Given the description of an element on the screen output the (x, y) to click on. 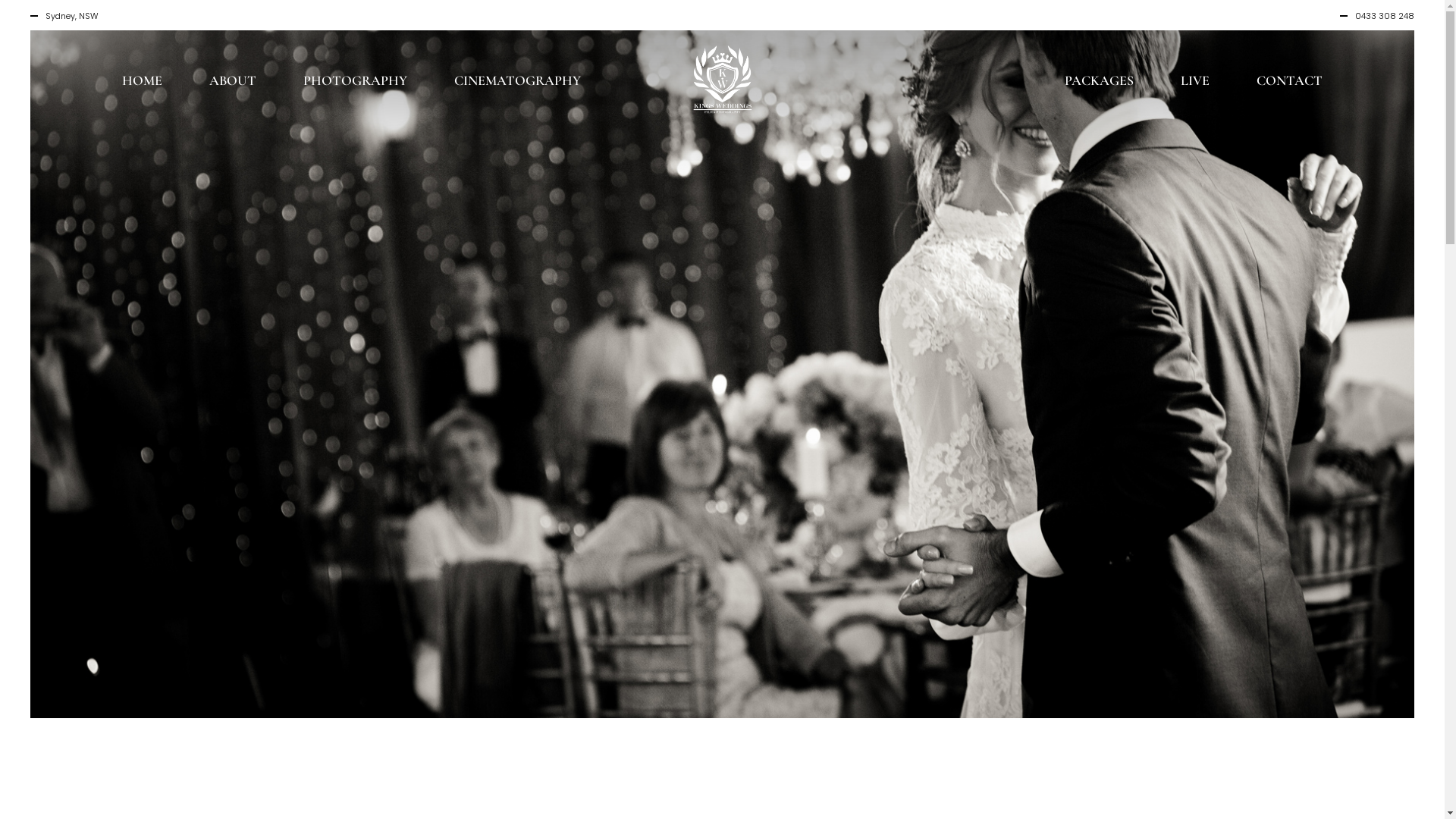
LIVE Element type: text (1195, 78)
ABOUT Element type: text (232, 78)
PHOTOGRAPHY Element type: text (354, 78)
CONTACT Element type: text (1289, 78)
CINEMATOGRAPHY Element type: text (517, 78)
PACKAGES Element type: text (1099, 78)
HOME Element type: text (141, 78)
